Given the description of an element on the screen output the (x, y) to click on. 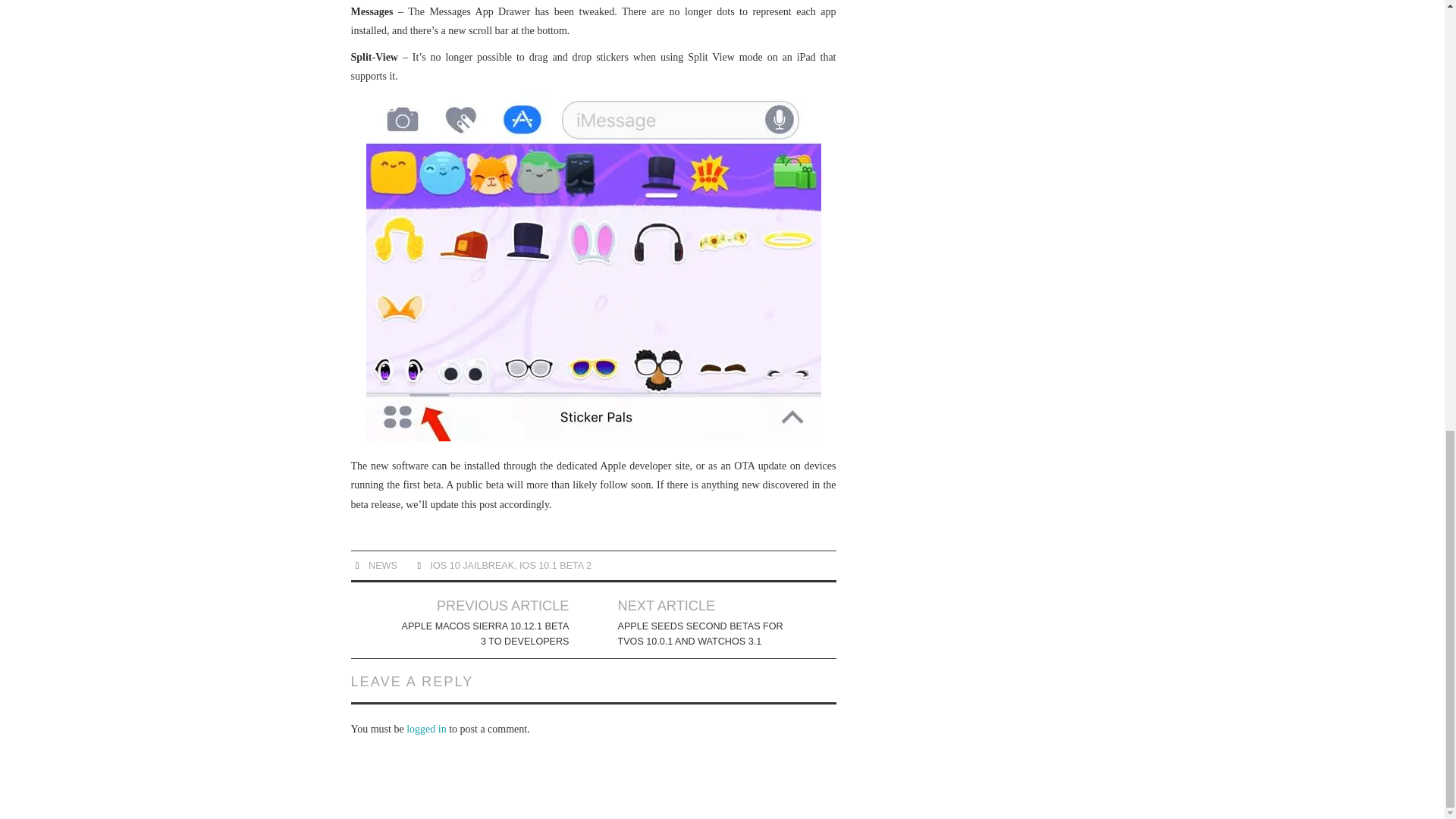
NEWS (382, 565)
APPLE SEEDS SECOND BETAS FOR TVOS 10.0.1 AND WATCHOS 3.1 (702, 634)
IOS 10.1 BETA 2 (555, 565)
IOS 10 JAILBREAK (472, 565)
APPLE MACOS SIERRA 10.12.1 BETA 3 TO DEVELOPERS (483, 634)
logged in (426, 728)
